Given the description of an element on the screen output the (x, y) to click on. 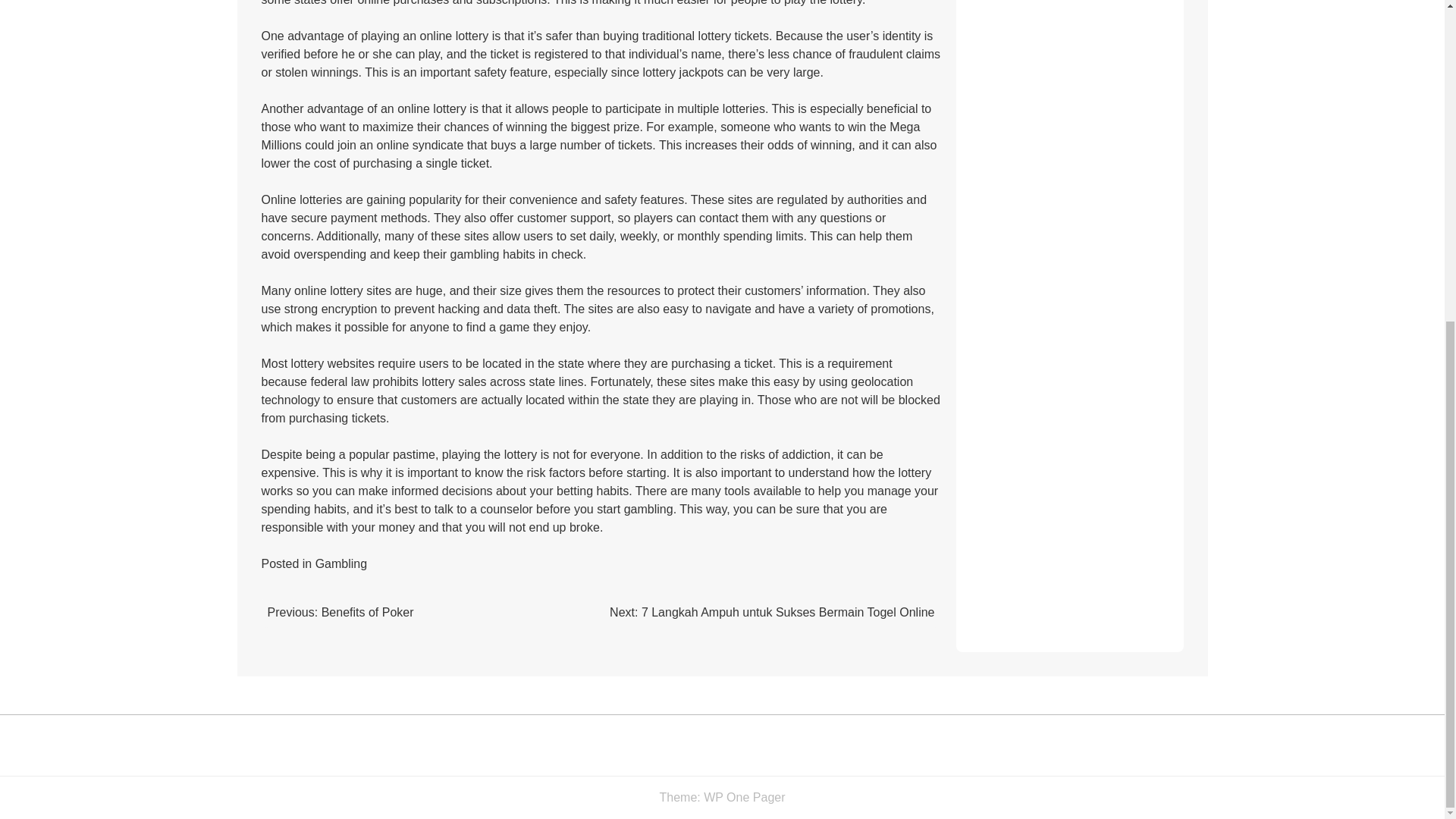
Next: 7 Langkah Ampuh untuk Sukses Bermain Togel Online (772, 612)
Gambling (340, 563)
Previous: Benefits of Poker (339, 612)
WP One Pager (743, 797)
